Given the description of an element on the screen output the (x, y) to click on. 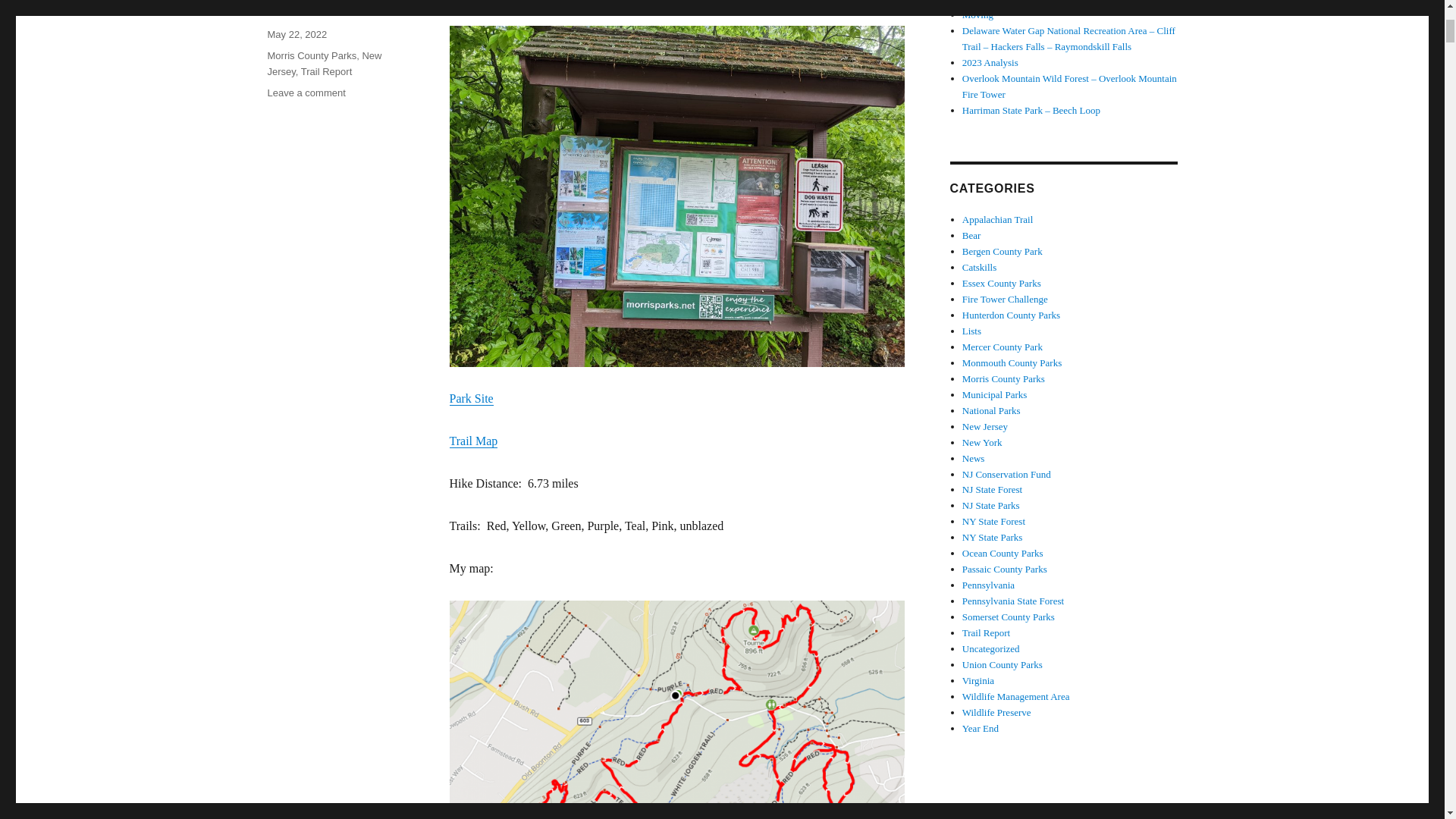
New Jersey (323, 62)
May 22, 2022 (296, 34)
Morris County Parks (311, 55)
Trail Map (472, 440)
Trail Report (326, 71)
Park Site (305, 92)
